Given the description of an element on the screen output the (x, y) to click on. 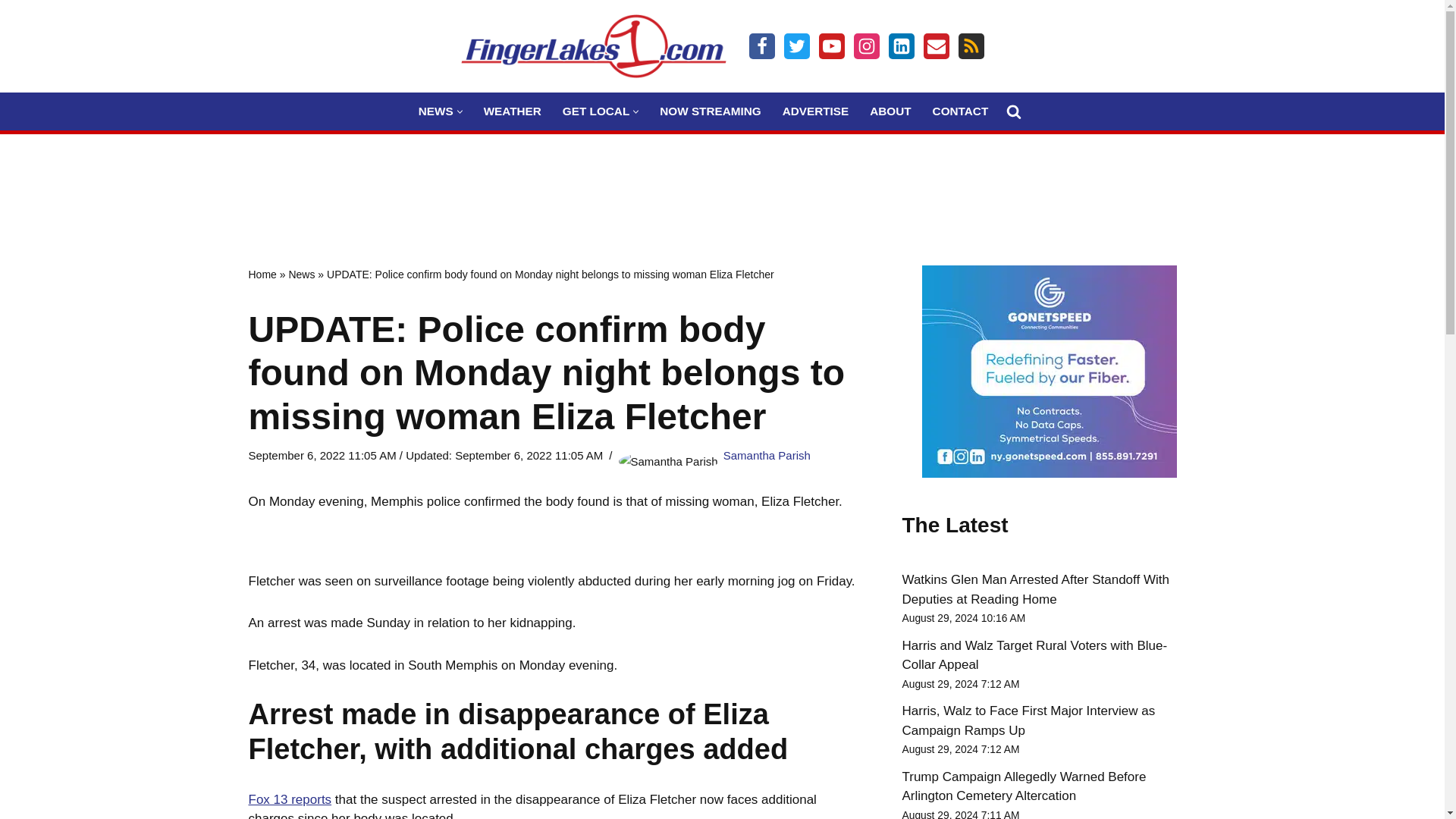
NOW STREAMING (709, 111)
Youtube (831, 45)
WEATHER (512, 111)
Posts by Samantha Parish (766, 454)
ABOUT (890, 111)
CONTACT (960, 111)
Feed (971, 45)
Facebook (761, 45)
Skip to content (11, 31)
LinkIn (901, 45)
